Given the description of an element on the screen output the (x, y) to click on. 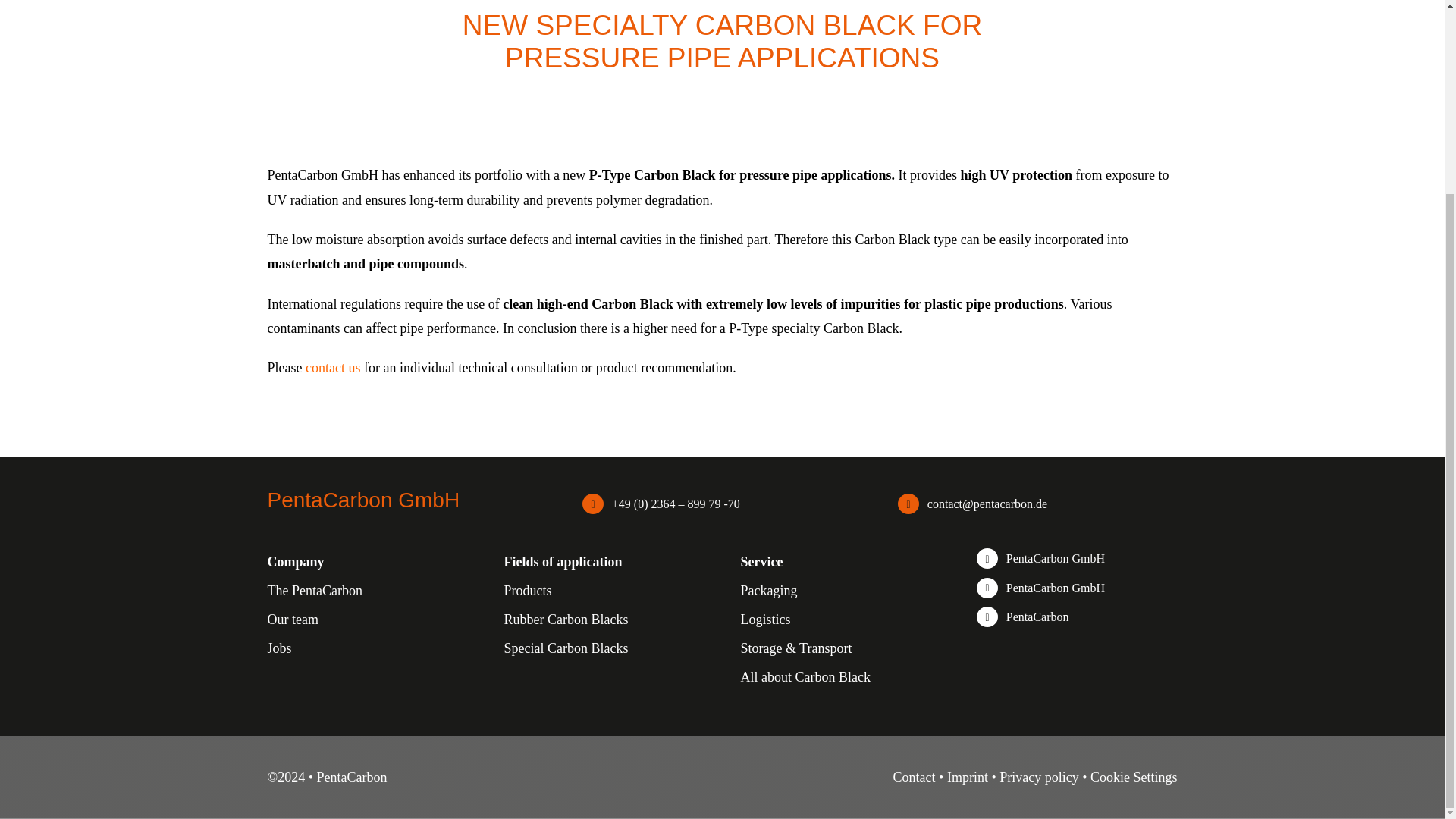
The PentaCarbon (313, 590)
Logistics (764, 619)
Rubber Carbon Blacks (565, 619)
Jobs (278, 648)
PentaCarbon GmbH (1055, 558)
Our team (291, 619)
Packaging (767, 590)
PentaCarbon GmbH (1055, 587)
All about Carbon Black (804, 676)
contact us (332, 367)
